Given the description of an element on the screen output the (x, y) to click on. 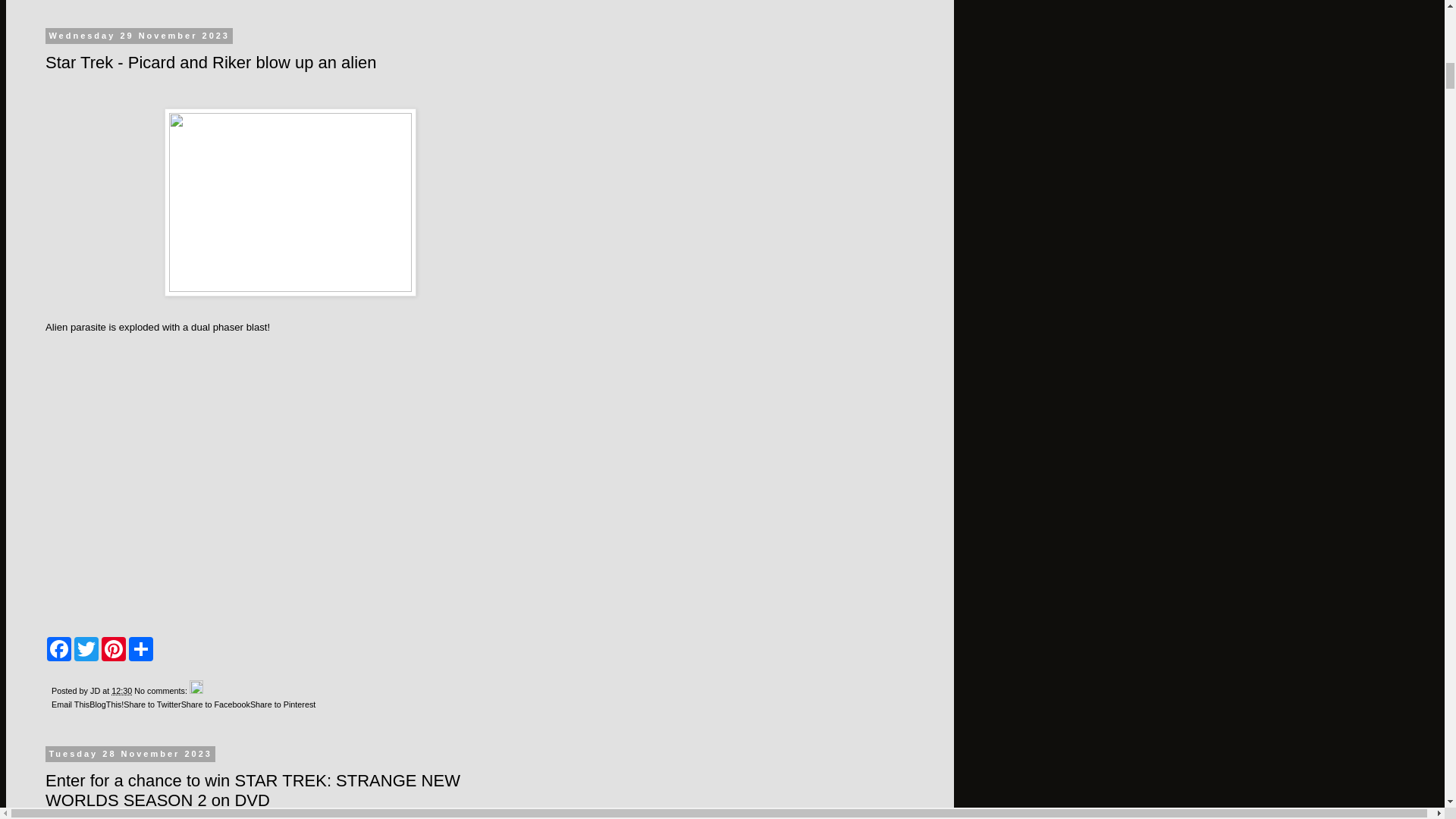
permanent link (122, 690)
BlogThis! (105, 704)
BlogThis! (105, 704)
Pinterest (114, 648)
Share to Twitter (151, 704)
Share to Facebook (215, 704)
12:30 (122, 690)
Share to Twitter (151, 704)
Share (141, 648)
Star Trek - Picard and Riker blow up an alien (227, 481)
Star Trek - Picard and Riker blow up an alien (211, 62)
Share to Pinterest (282, 704)
Facebook (58, 648)
Edit Post (196, 690)
No comments: (161, 690)
